Given the description of an element on the screen output the (x, y) to click on. 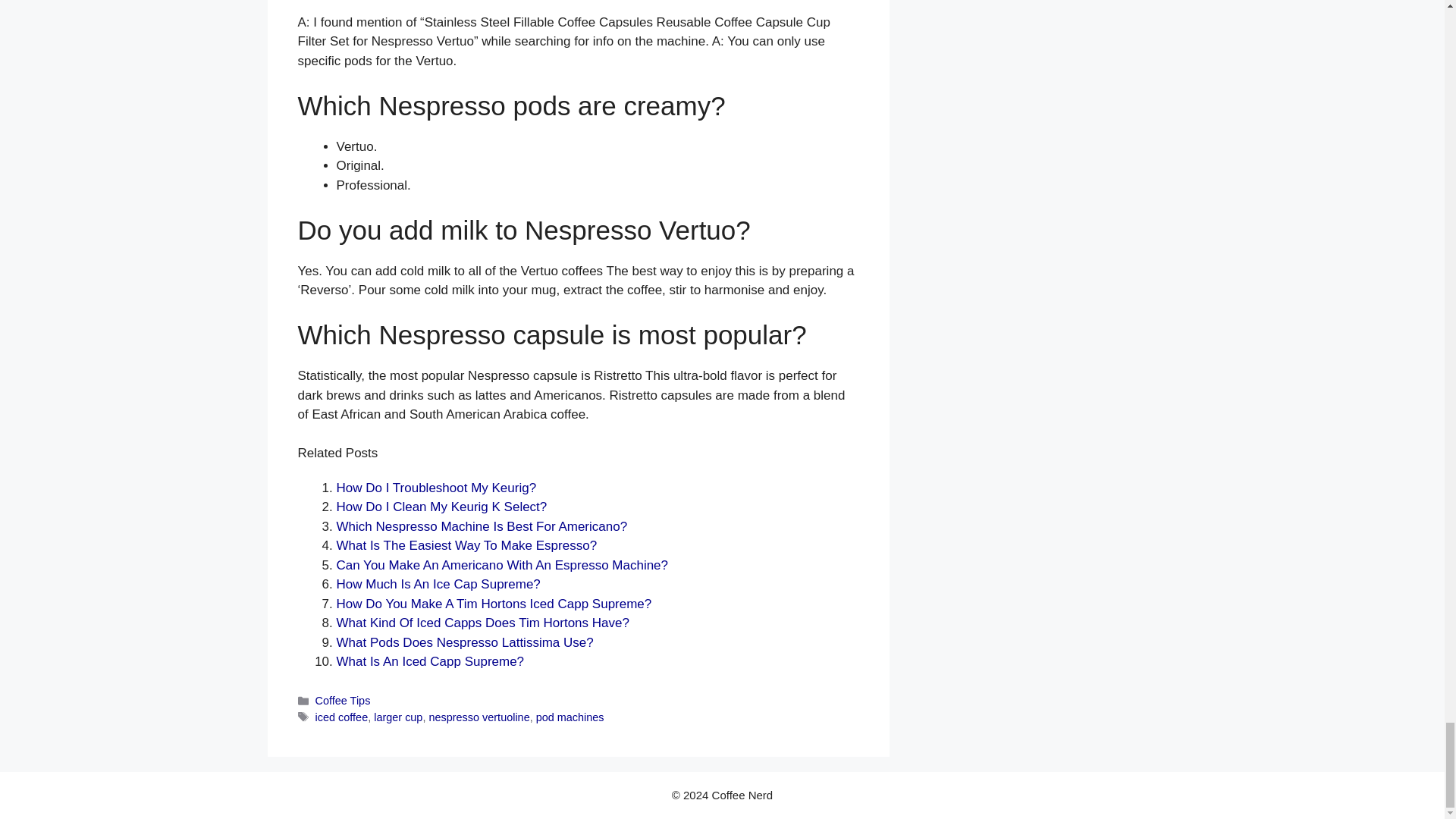
How Much Is An Ice Cap Supreme? (438, 584)
How Do I Clean My Keurig K Select? (441, 506)
What Is An Iced Capp Supreme? (430, 661)
What Kind Of Iced Capps Does Tim Hortons Have? (482, 622)
How Do You Make A Tim Hortons Iced Capp Supreme? (494, 603)
What Is The Easiest Way To Make Espresso? (466, 545)
What Kind Of Iced Capps Does Tim Hortons Have? (482, 622)
What Is An Iced Capp Supreme? (430, 661)
Can You Make An Americano With An Espresso Machine? (502, 564)
How Do I Troubleshoot My Keurig? (436, 487)
What Pods Does Nespresso Lattissima Use? (465, 642)
How Do You Make A Tim Hortons Iced Capp Supreme? (494, 603)
nespresso vertuoline (478, 717)
Can You Make An Americano With An Espresso Machine? (502, 564)
What Pods Does Nespresso Lattissima Use? (465, 642)
